Given the description of an element on the screen output the (x, y) to click on. 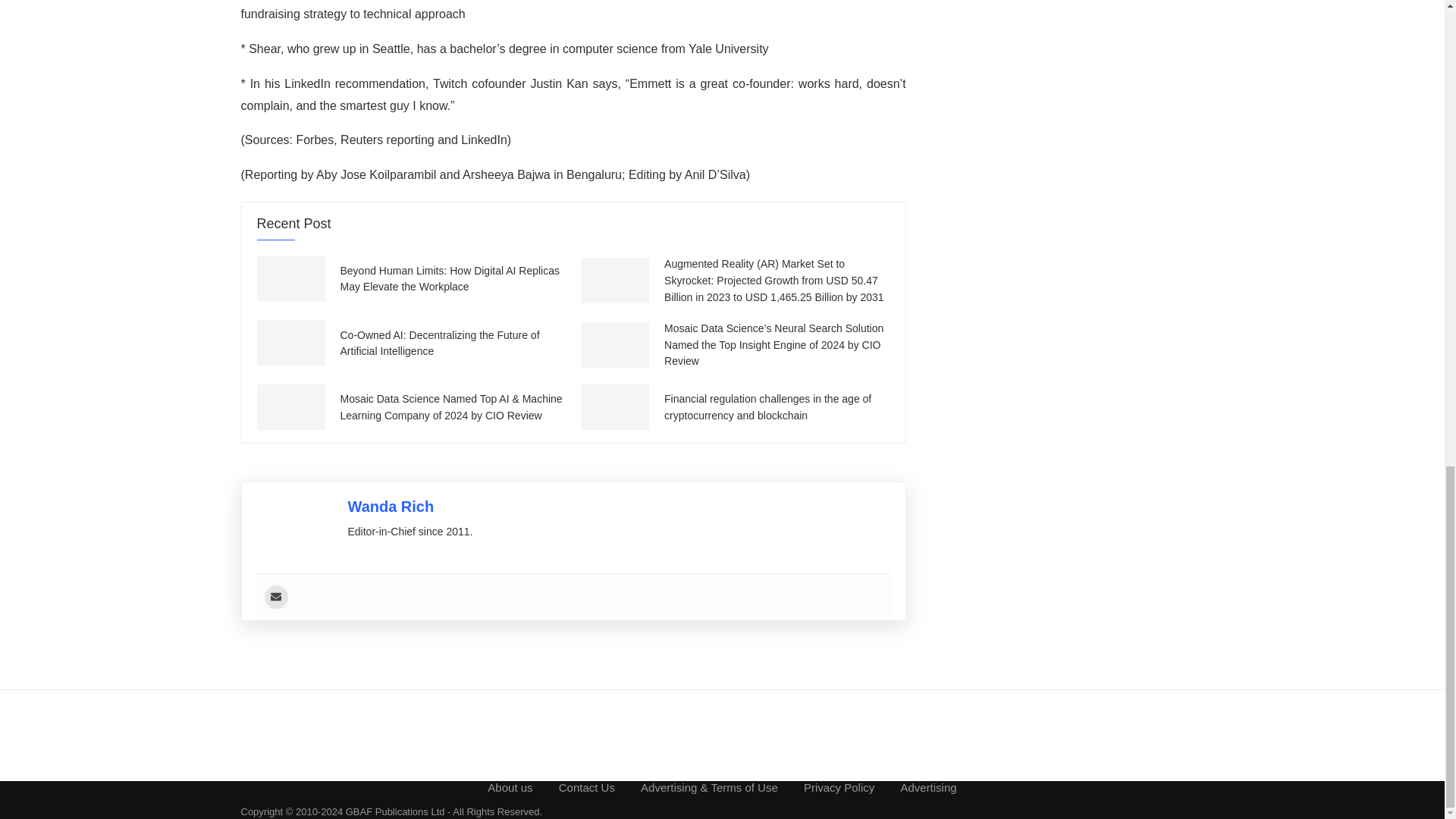
Wanda Rich (390, 506)
User email (274, 597)
